Given the description of an element on the screen output the (x, y) to click on. 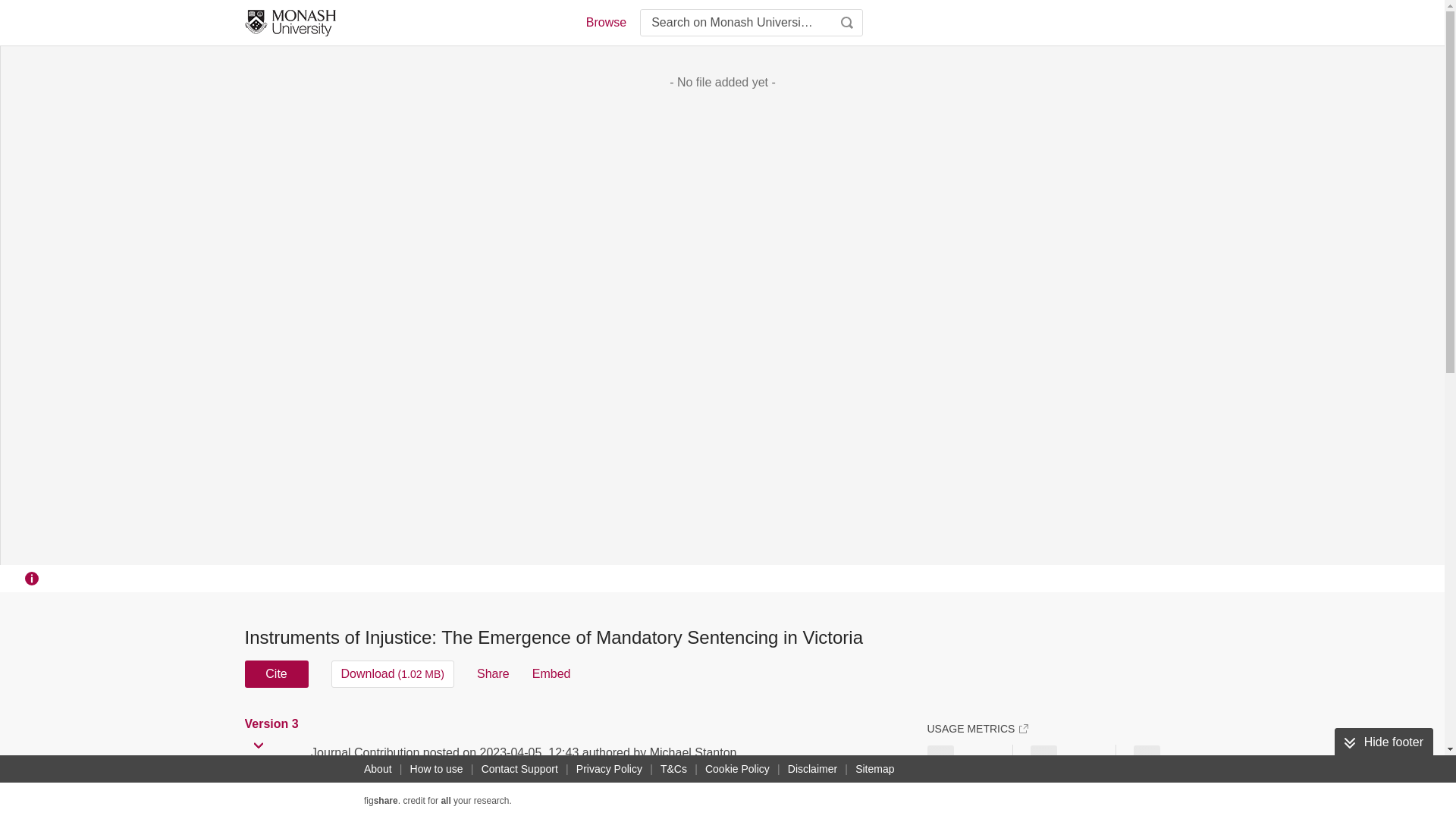
Hide footer (1383, 742)
Embed (551, 673)
Cite (275, 673)
About (377, 769)
Share (493, 673)
Contact Support (519, 769)
USAGE METRICS (976, 728)
Privacy Policy (609, 769)
How to use (436, 769)
Version 3 (273, 723)
